Given the description of an element on the screen output the (x, y) to click on. 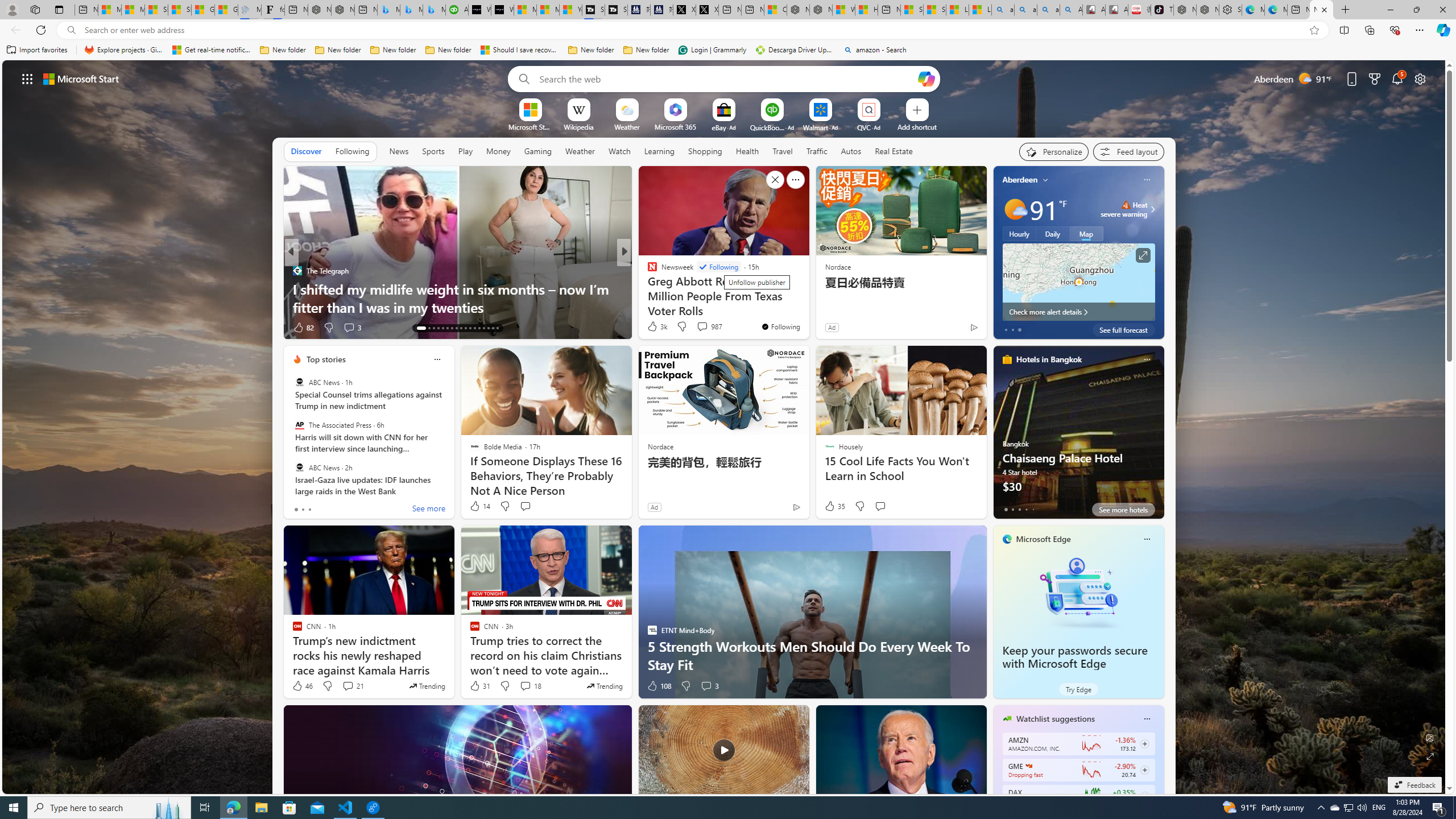
12 Like (652, 327)
My location (1045, 179)
Keep your passwords secure with Microsoft Edge (1077, 592)
Aberdeen (1019, 179)
tab-4 (1032, 509)
View comments 21 Comment (347, 685)
